Given the description of an element on the screen output the (x, y) to click on. 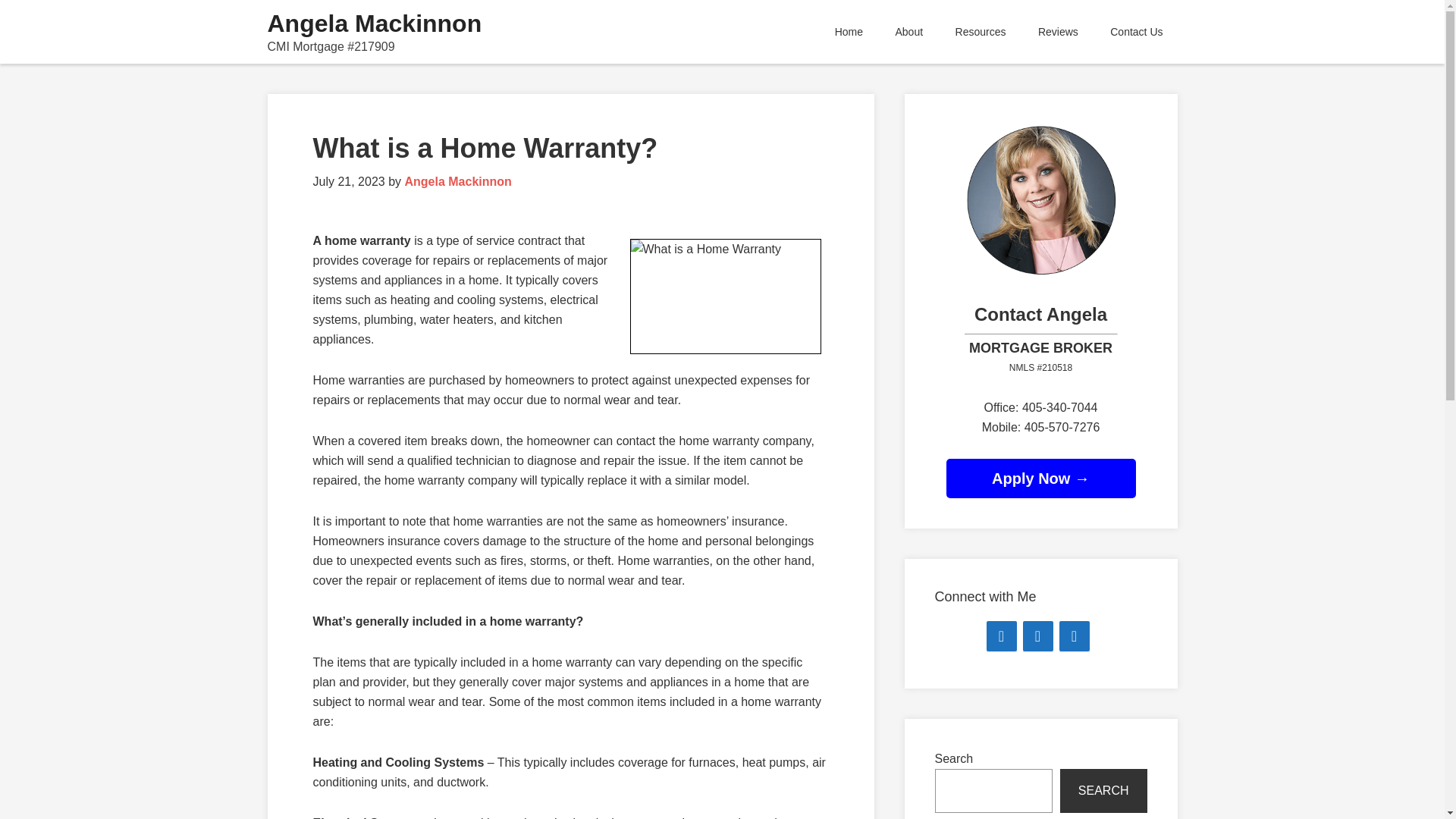
Contact Us (1136, 31)
Angela Mackinnon (373, 22)
Reviews (1058, 31)
Home (849, 31)
Resources (980, 31)
About (908, 31)
What is a Home Warranty? (485, 147)
SEARCH (1103, 791)
Angela Mackinnon (457, 181)
